Given the description of an element on the screen output the (x, y) to click on. 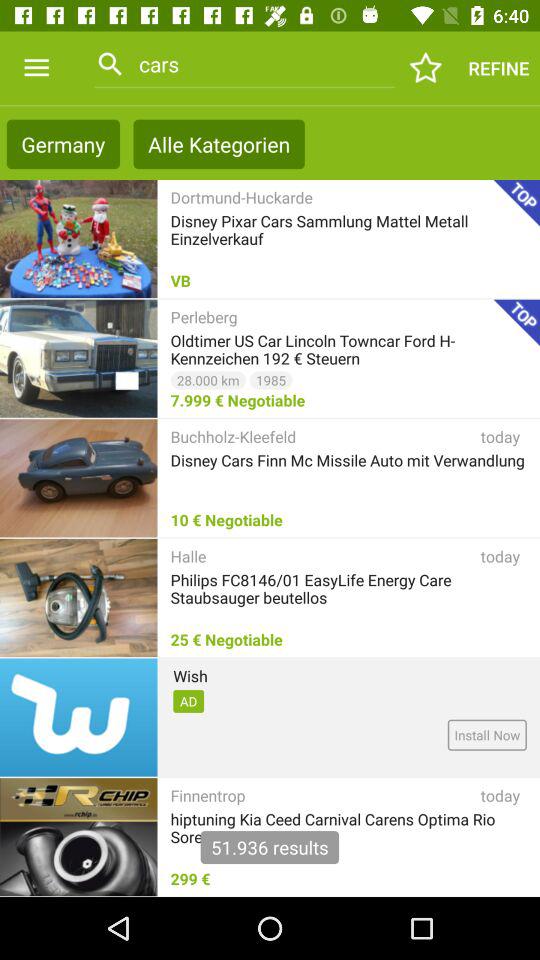
turn off icon next to the ad (486, 734)
